Given the description of an element on the screen output the (x, y) to click on. 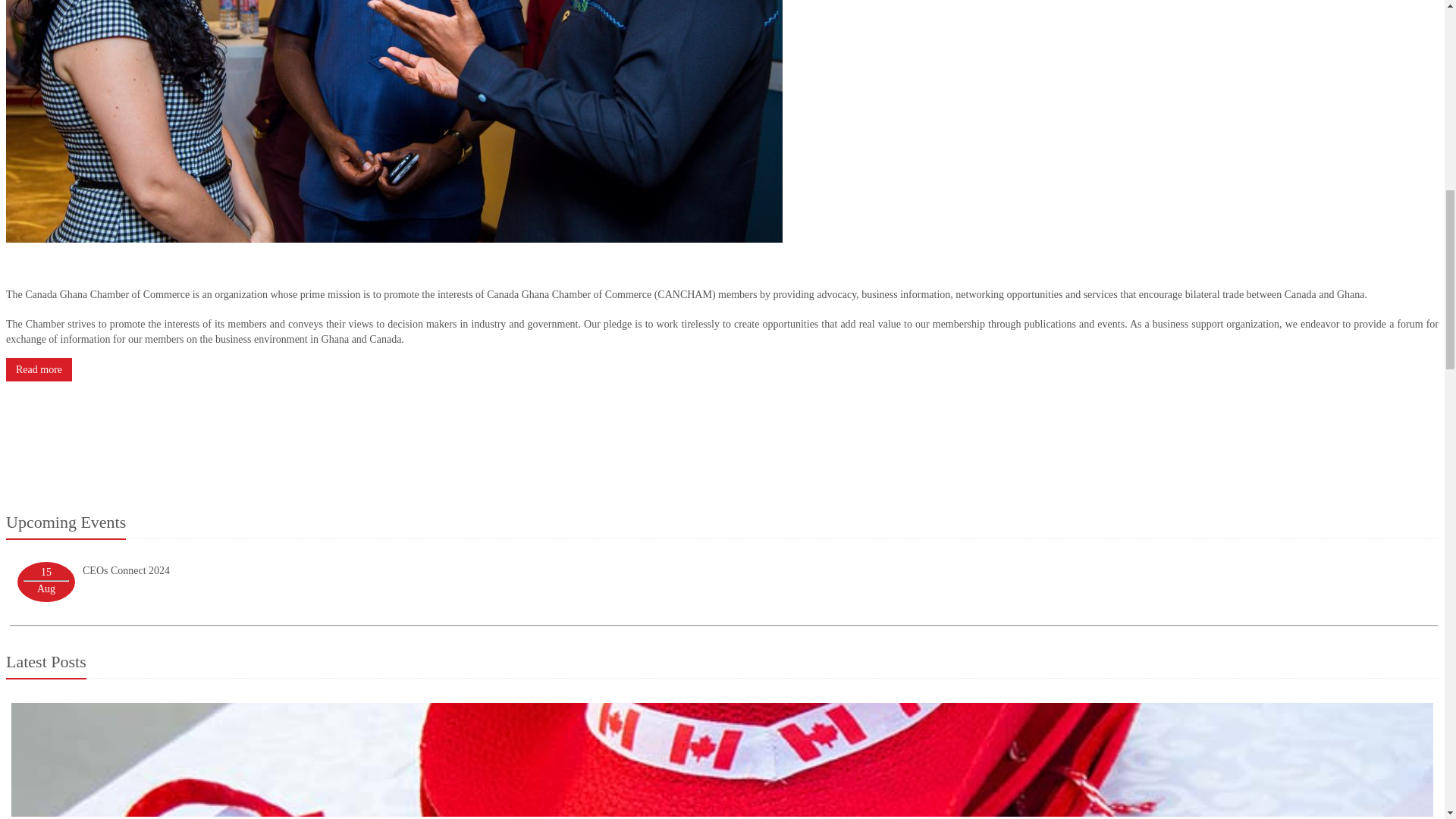
Read more (38, 369)
CEOs Connect 2024 (126, 570)
